Given the description of an element on the screen output the (x, y) to click on. 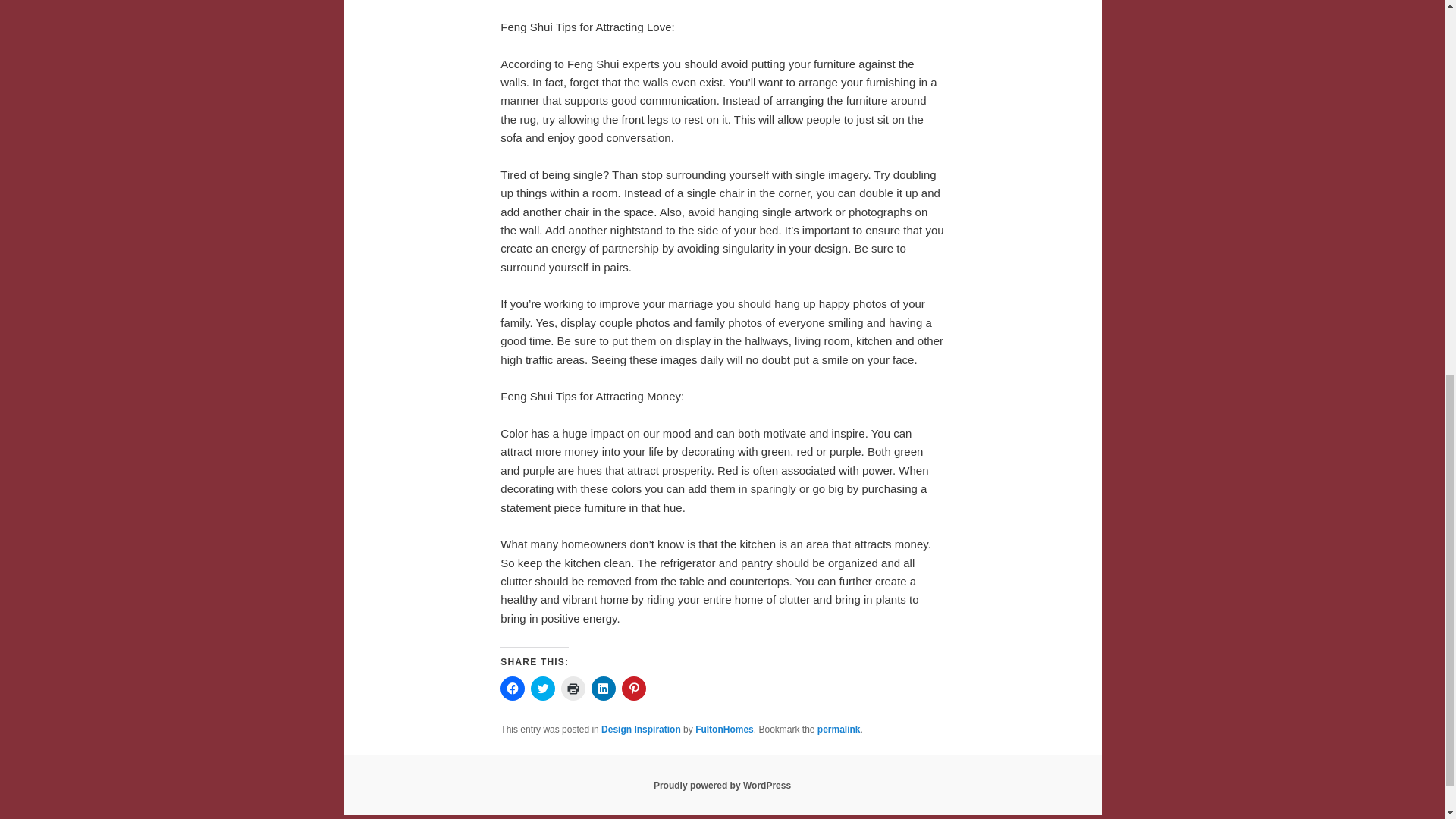
Design Inspiration (641, 728)
Click to print (572, 688)
Click to share on Pinterest (633, 688)
Semantic Personal Publishing Platform (721, 785)
FultonHomes (724, 728)
Click to share on LinkedIn (603, 688)
Proudly powered by WordPress (721, 785)
permalink (838, 728)
Click to share on Facebook (512, 688)
